Given the description of an element on the screen output the (x, y) to click on. 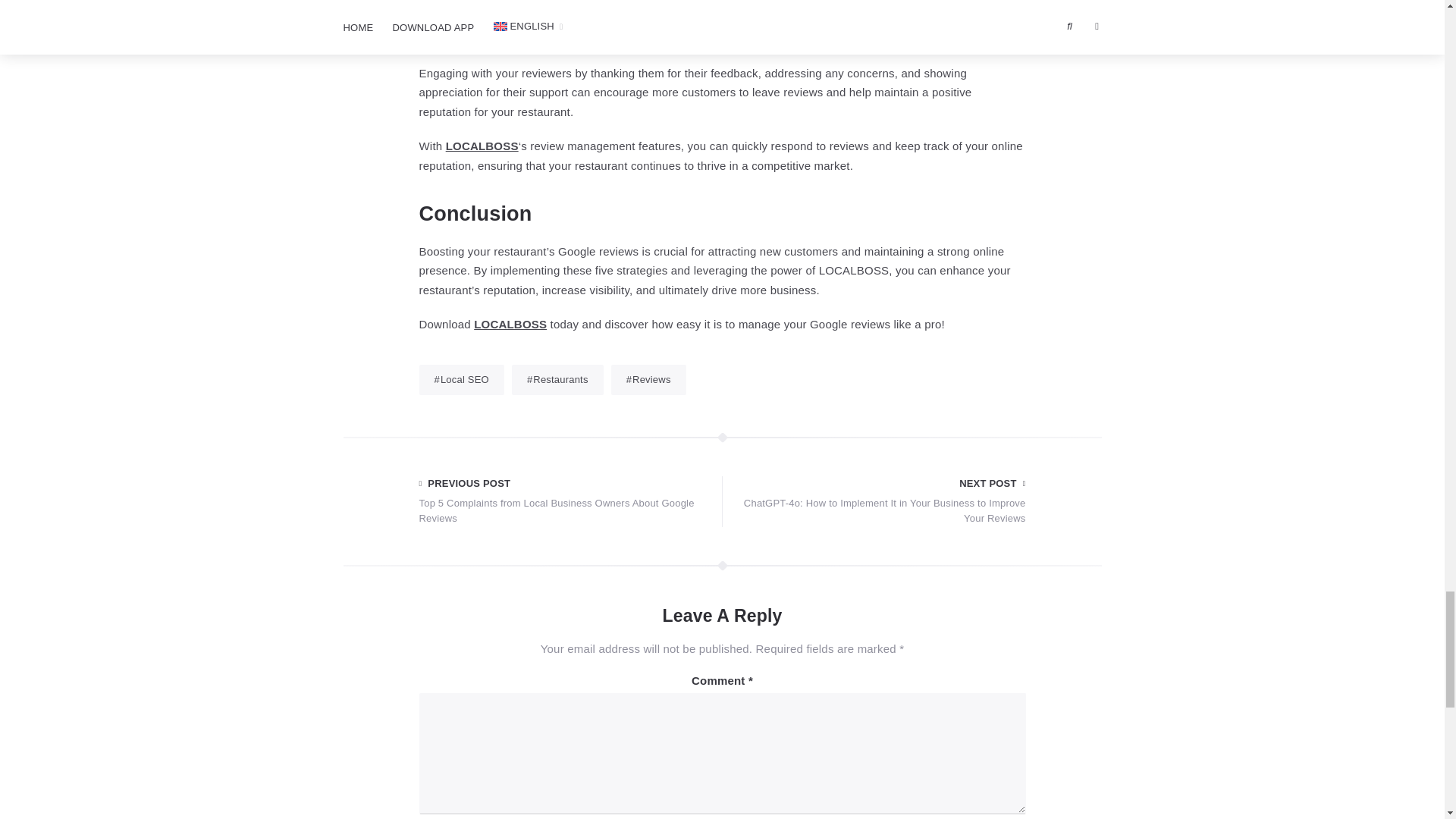
Reviews (648, 379)
LOCALBOSS (481, 145)
Local SEO (461, 379)
LOCALBOSS (510, 323)
Restaurants (558, 379)
